Given the description of an element on the screen output the (x, y) to click on. 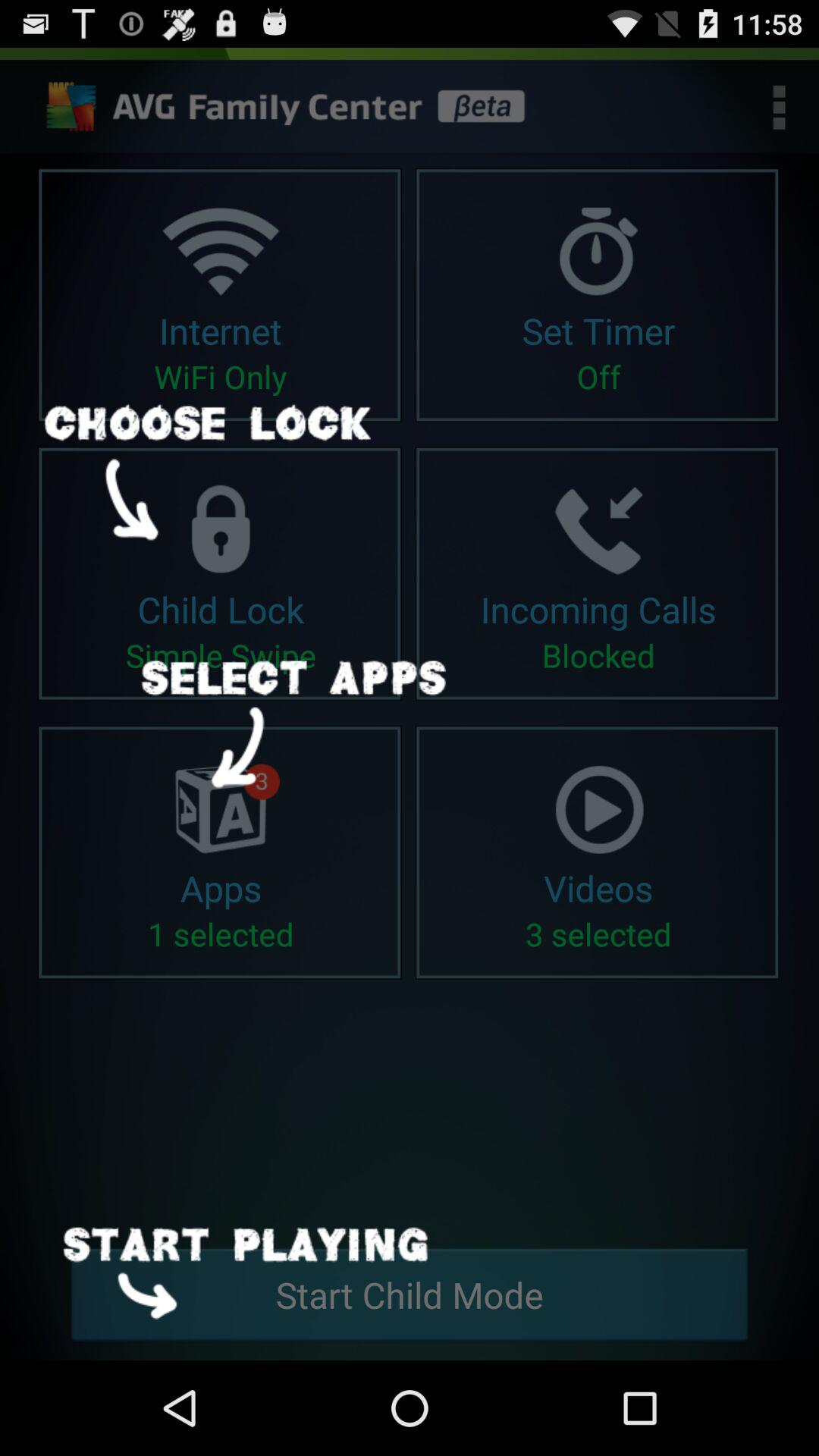
click on the more options icon which is on the top right corner (779, 107)
select the first frame in third row (220, 852)
